Given the description of an element on the screen output the (x, y) to click on. 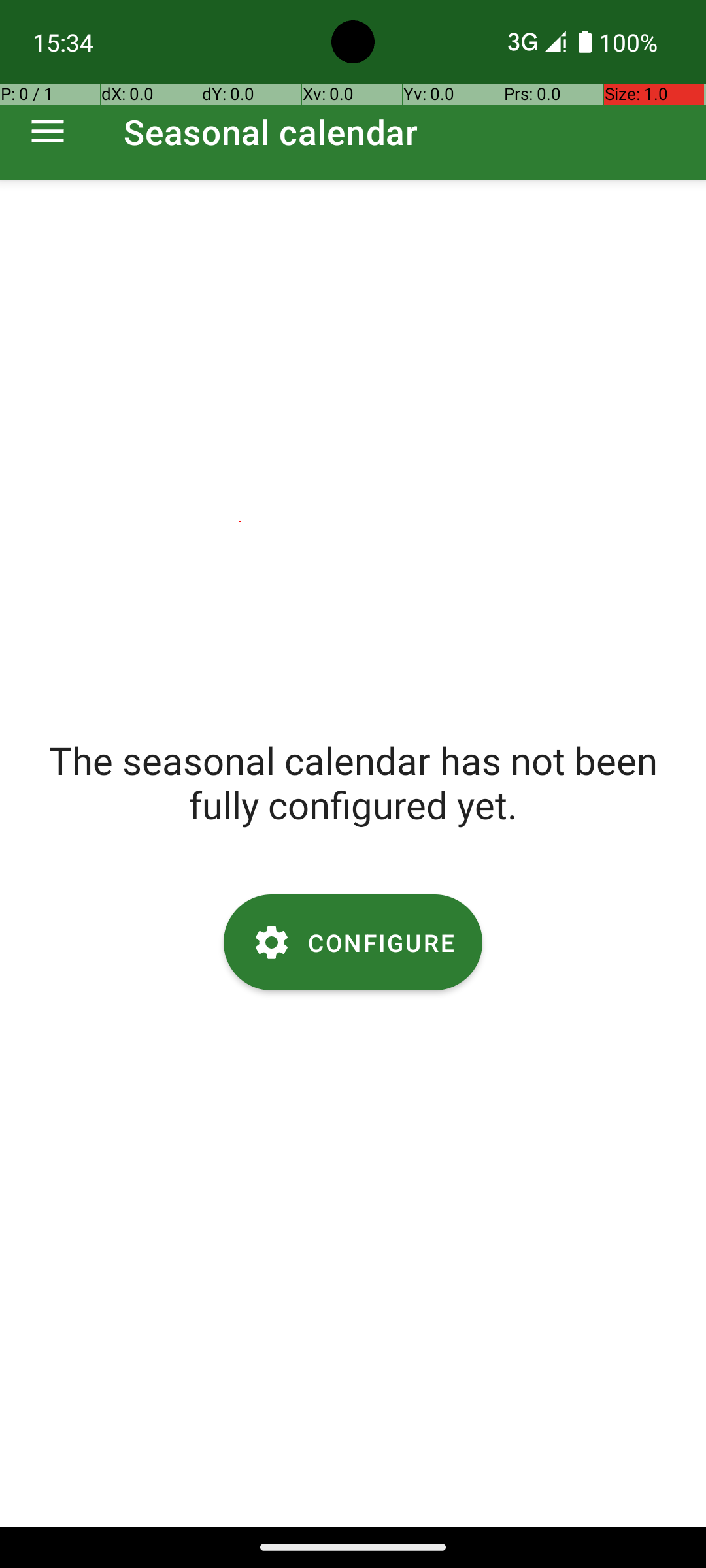
Seasonal calendar Element type: android.widget.TextView (270, 131)
The seasonal calendar has not been fully configured yet. Element type: android.widget.TextView (353, 781)
CONFIGURE Element type: android.widget.Button (352, 942)
